Given the description of an element on the screen output the (x, y) to click on. 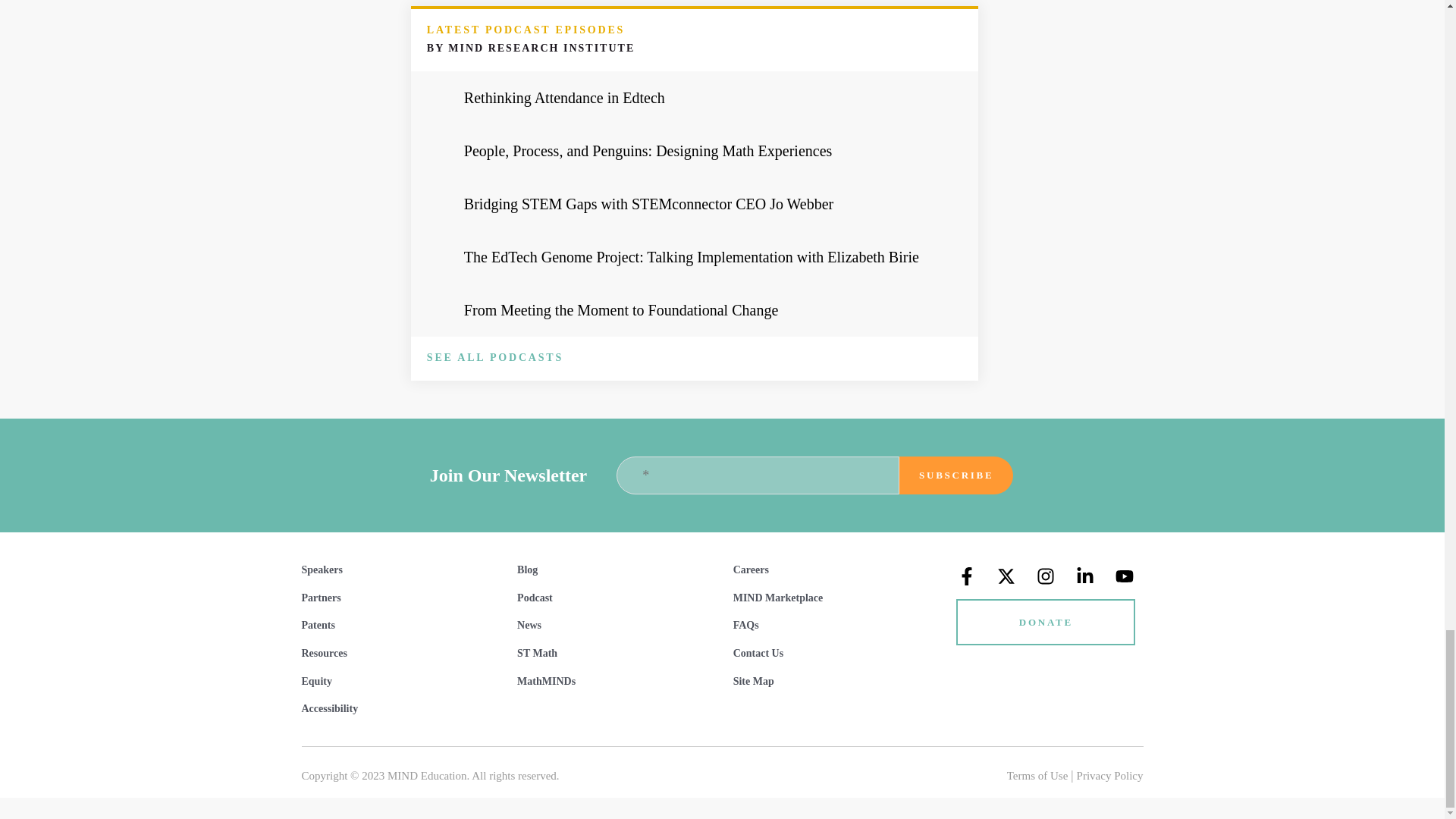
DONATE (1045, 620)
Subscribe (956, 475)
